Given the description of an element on the screen output the (x, y) to click on. 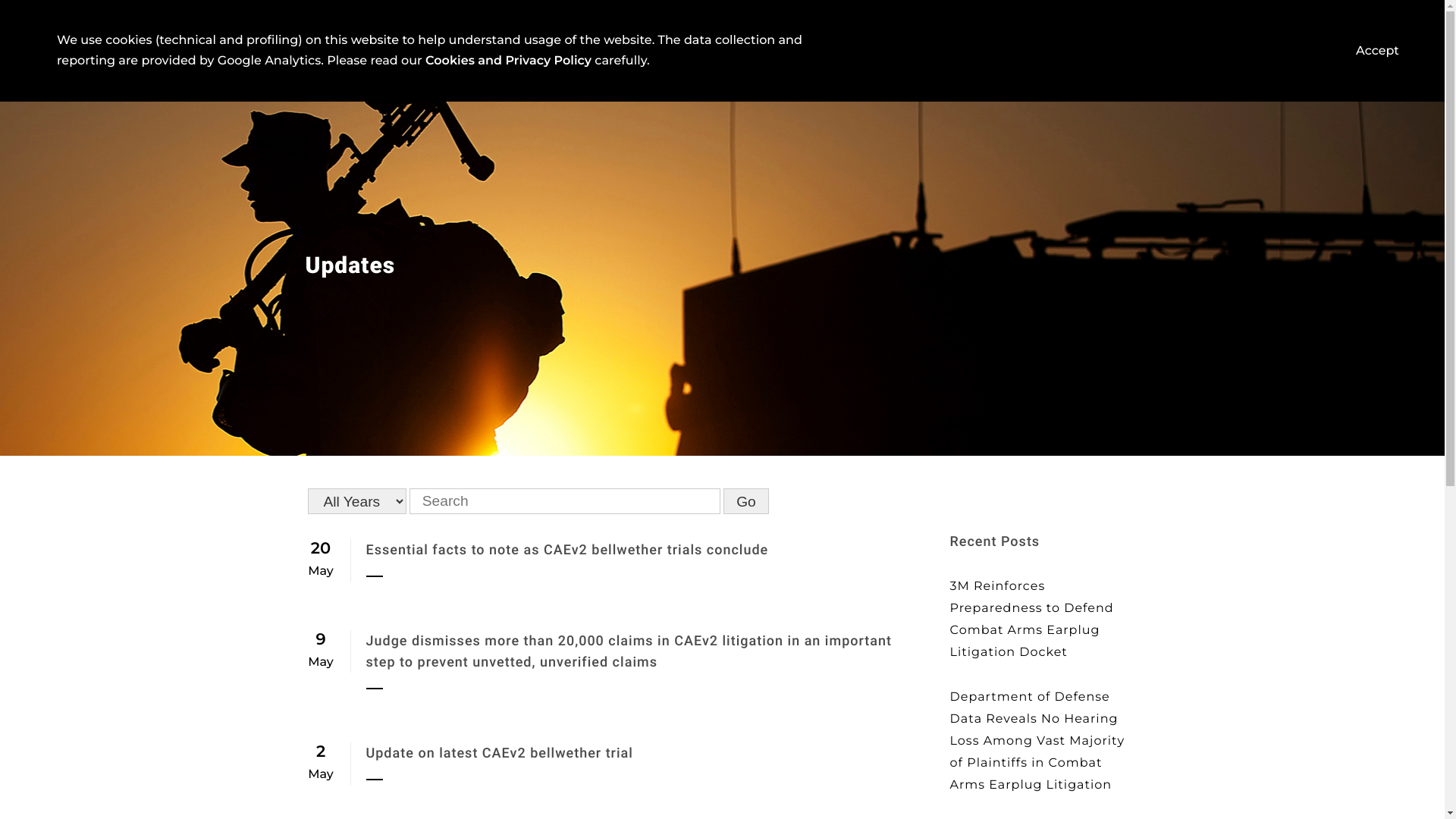
Go Element type: text (745, 501)
Cookies and Privacy Policy Element type: text (508, 60)
Update on latest CAEv2 bellwether trial Element type: text (498, 762)
About the CAEv2 Litigation Element type: text (830, 36)
Essential facts to note as CAEv2 bellwether trials conclude Element type: text (566, 559)
Updates Element type: text (1098, 36)
Product History & About 3M Element type: text (679, 36)
Home Element type: text (569, 36)
